Given the description of an element on the screen output the (x, y) to click on. 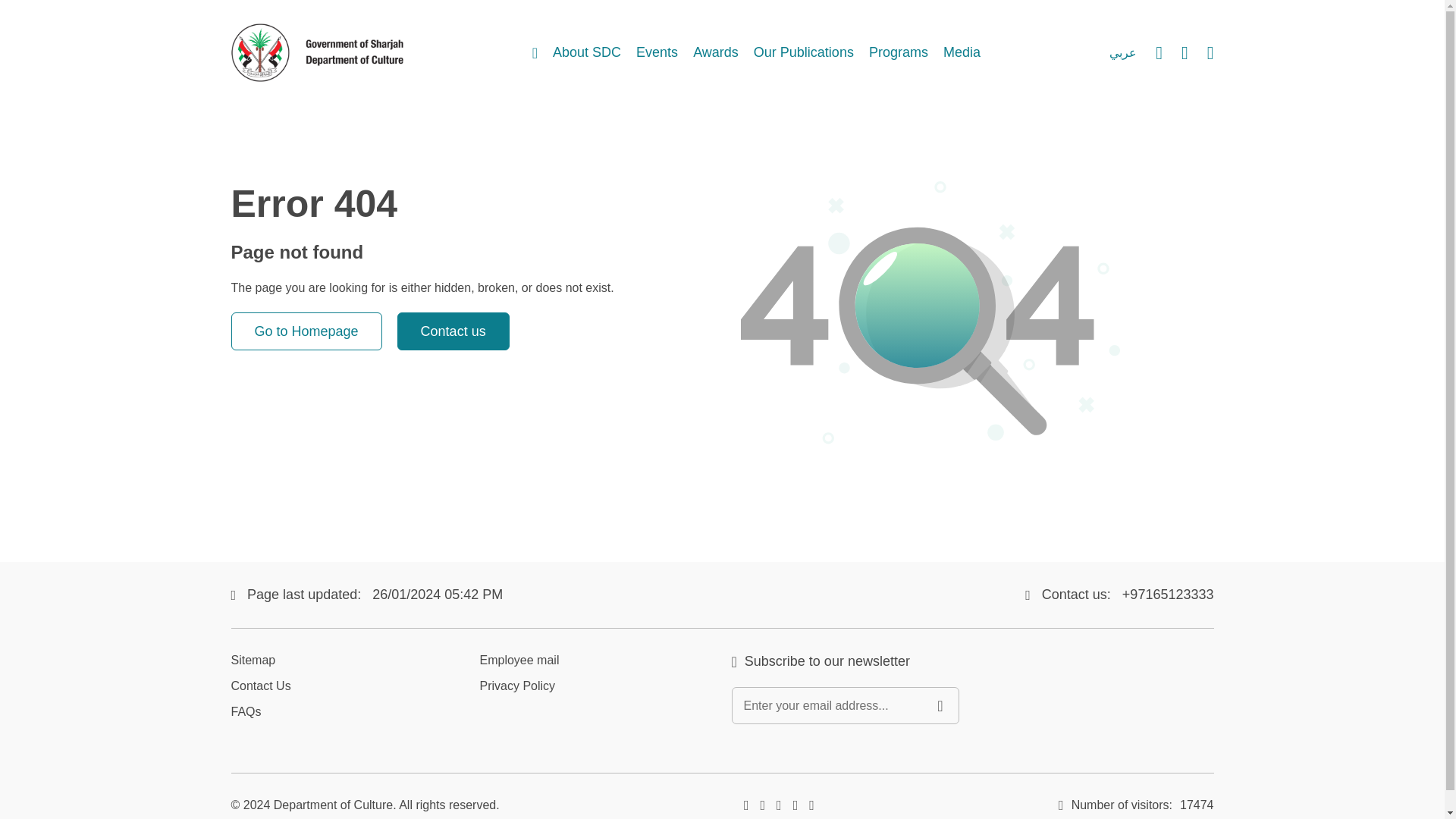
Programs (898, 52)
About SDC (587, 52)
Click to go homepage (305, 331)
Media (961, 52)
Our Publications (803, 52)
Sitemap (252, 659)
Go to Homepage (305, 331)
Click to go contact us (453, 331)
Contact us (453, 331)
Events (657, 52)
Awards (715, 52)
Error 404 (930, 333)
